Given the description of an element on the screen output the (x, y) to click on. 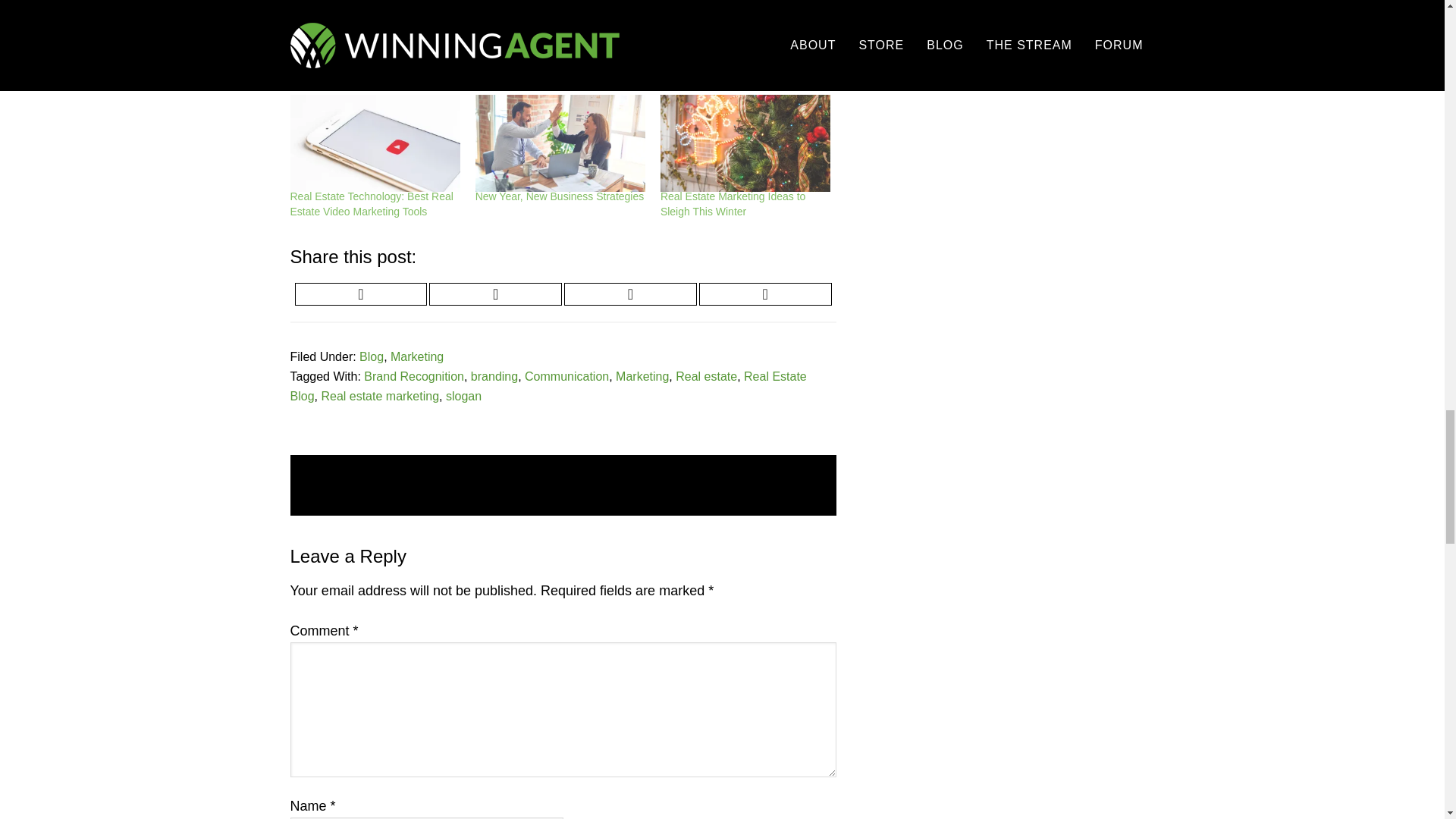
Marketing (641, 376)
Share on Facebook (495, 293)
Share on LinkedIn (764, 293)
Real Estate Marketing Ideas to Sleigh This Winter (745, 143)
New Year, New Business Strategies (560, 143)
Communication (566, 376)
Real Estate Blog (547, 386)
Blog (371, 356)
New Year, New Business Strategies (560, 196)
